Given the description of an element on the screen output the (x, y) to click on. 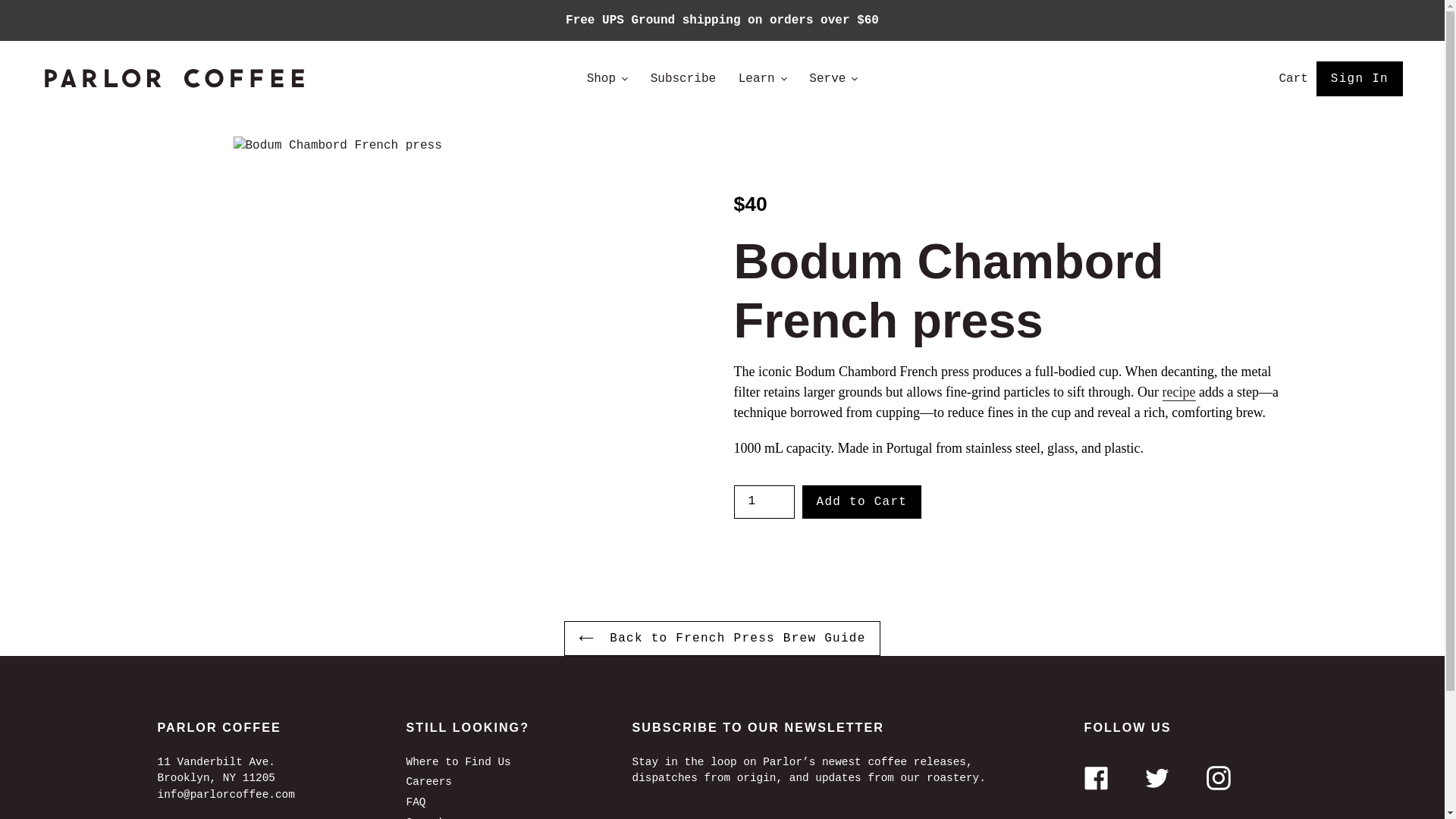
Shop (606, 78)
Learn (762, 78)
Sign In (1355, 79)
French Press Brew Guide (1178, 392)
Cart (1288, 78)
Subscribe (683, 78)
1 (763, 501)
Page 1 (1010, 409)
Serve (833, 78)
